Given the description of an element on the screen output the (x, y) to click on. 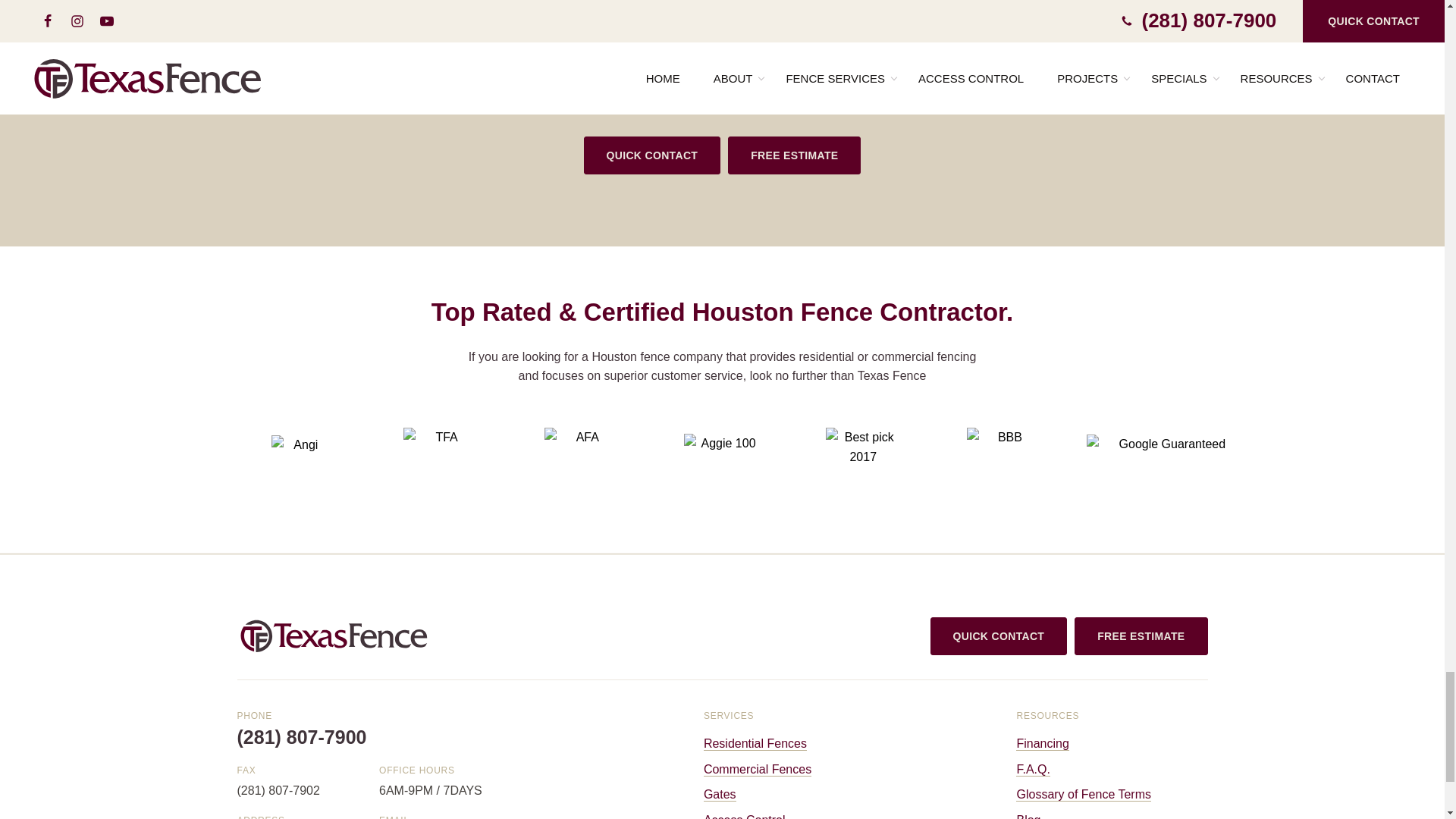
Texas Fence (332, 634)
